Given the description of an element on the screen output the (x, y) to click on. 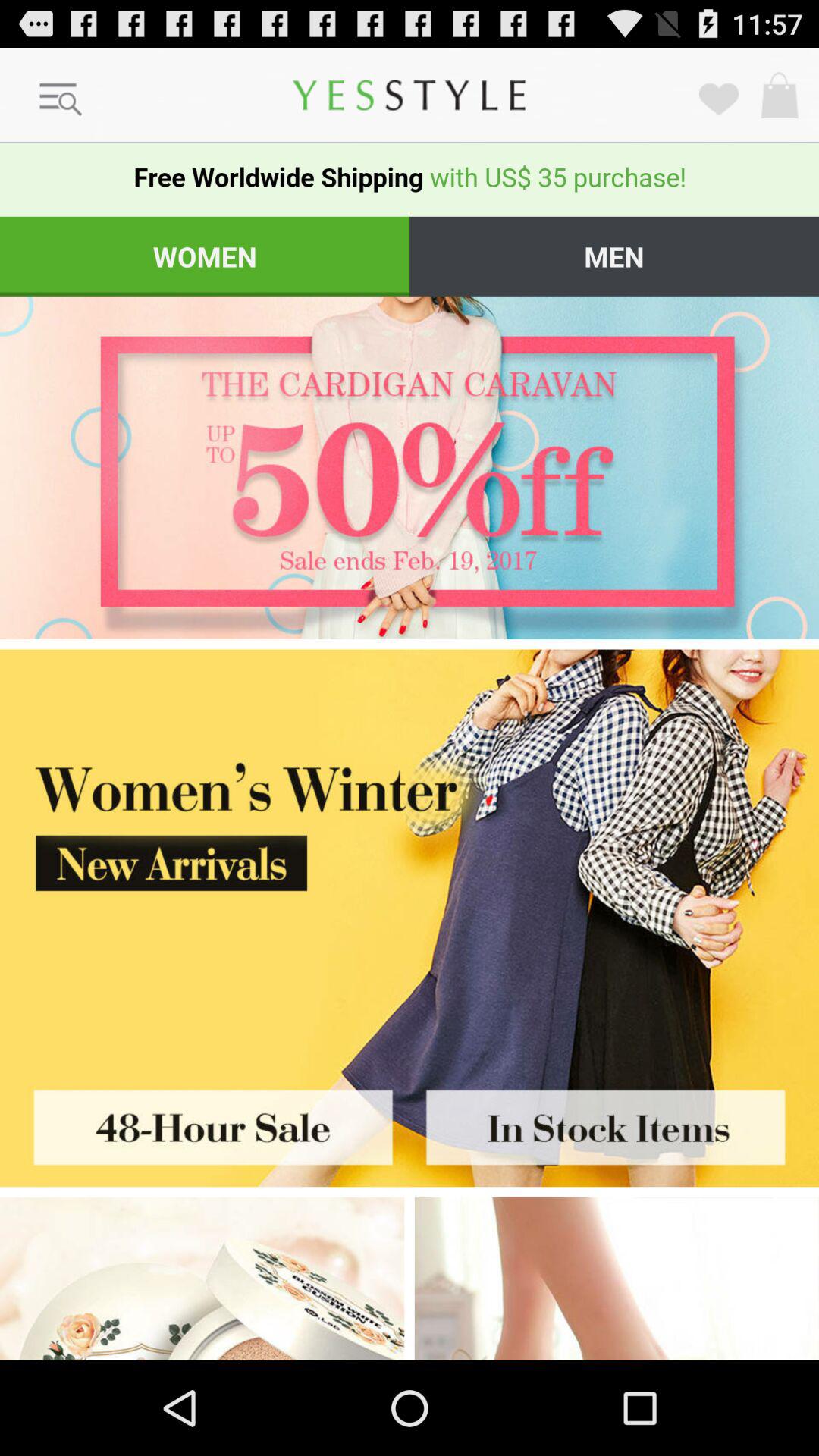
advertisement page (204, 1122)
